Given the description of an element on the screen output the (x, y) to click on. 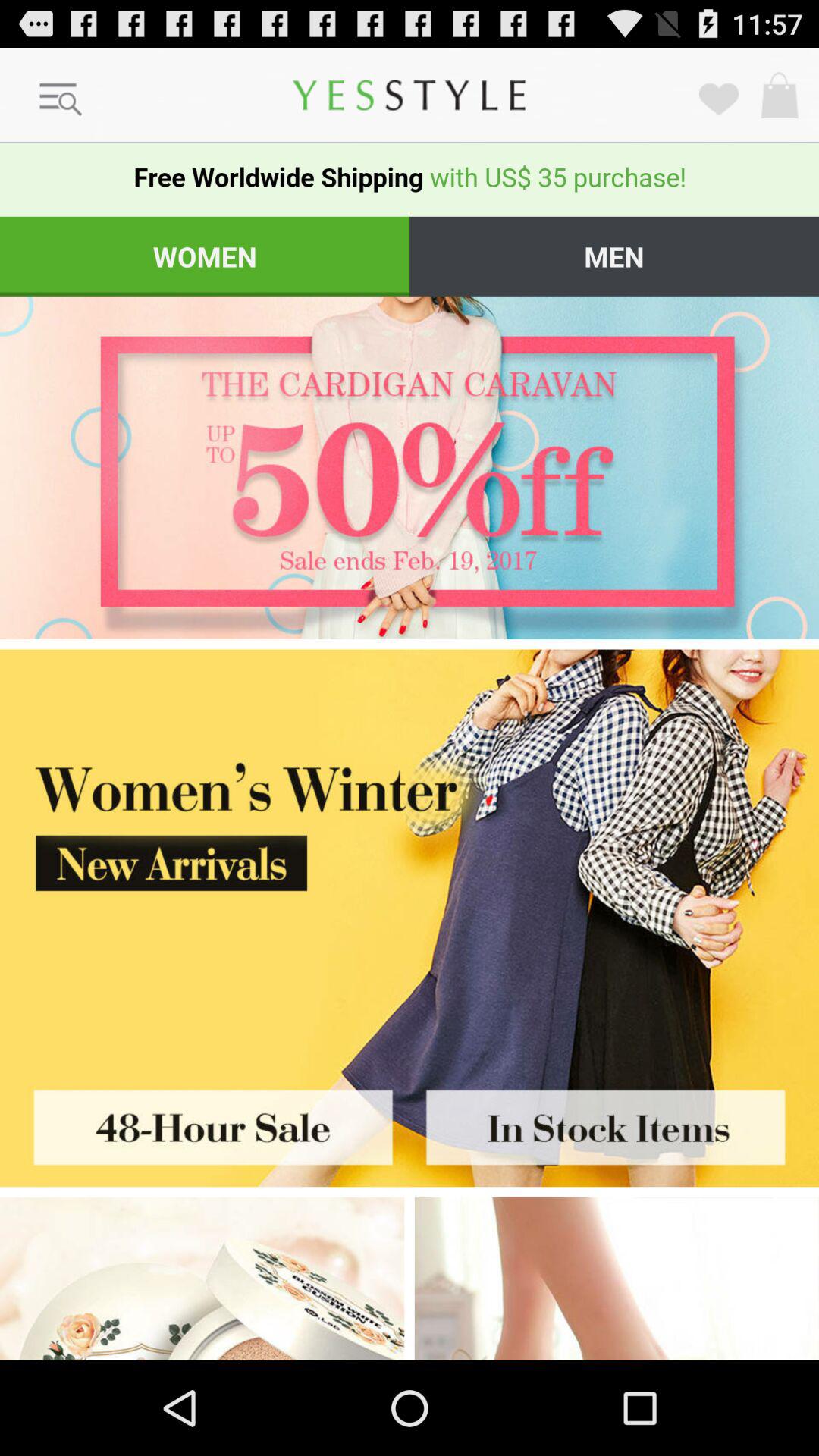
advertisement page (204, 1122)
